Given the description of an element on the screen output the (x, y) to click on. 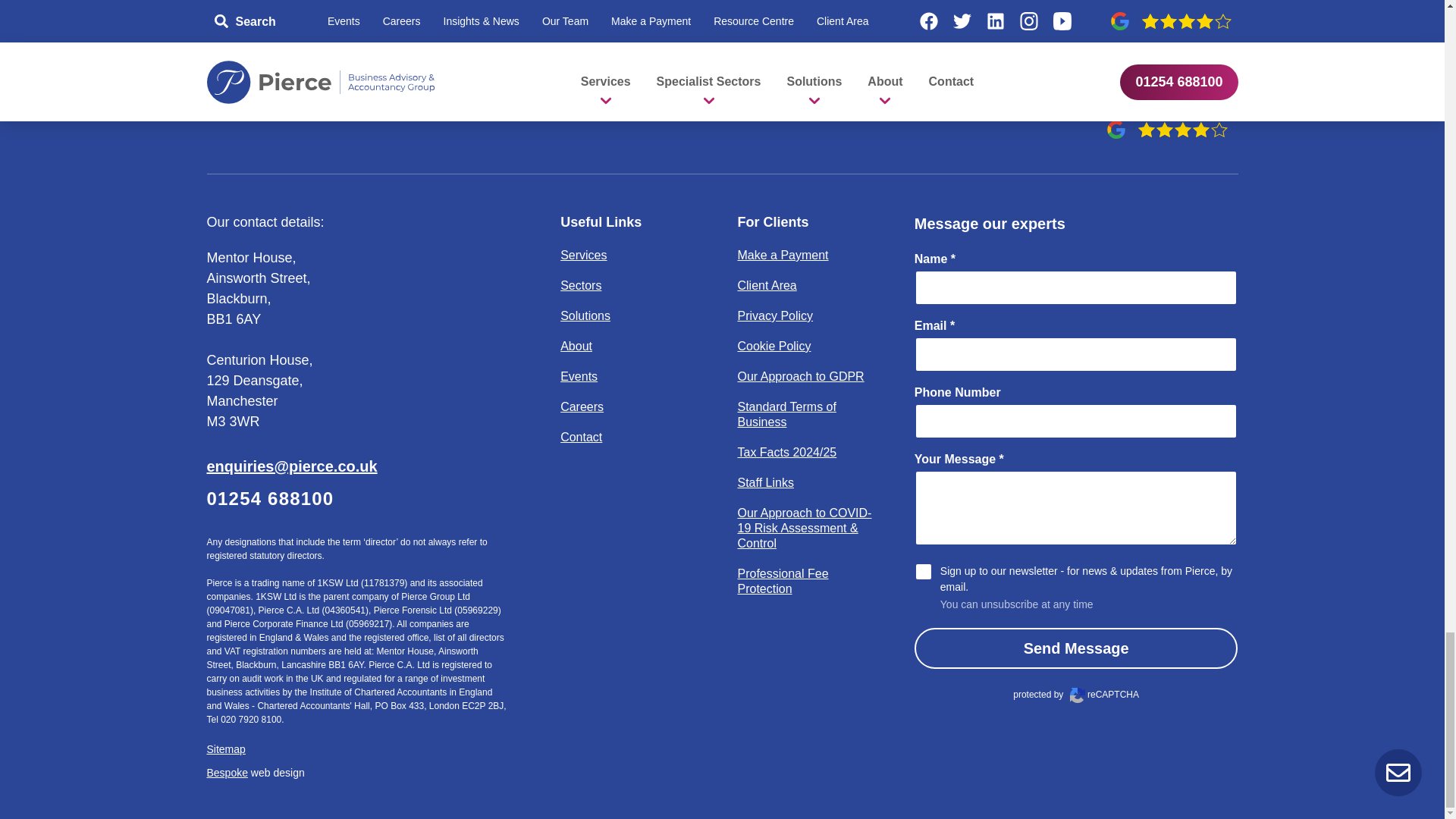
1 (923, 571)
Pierce Business Advisory and Accountancy Group - Youtube (1214, 80)
Pierce Business Advisory and Accountancy Group - Instagram (1158, 80)
Pierce Business Advisory and Accountancy Group - Facebook (995, 80)
Pierce Business Advisory and Accountancy Group - Linkedin (1104, 80)
Pierce Business Advisory and Accountancy Group - Twitter (1050, 80)
